Given the description of an element on the screen output the (x, y) to click on. 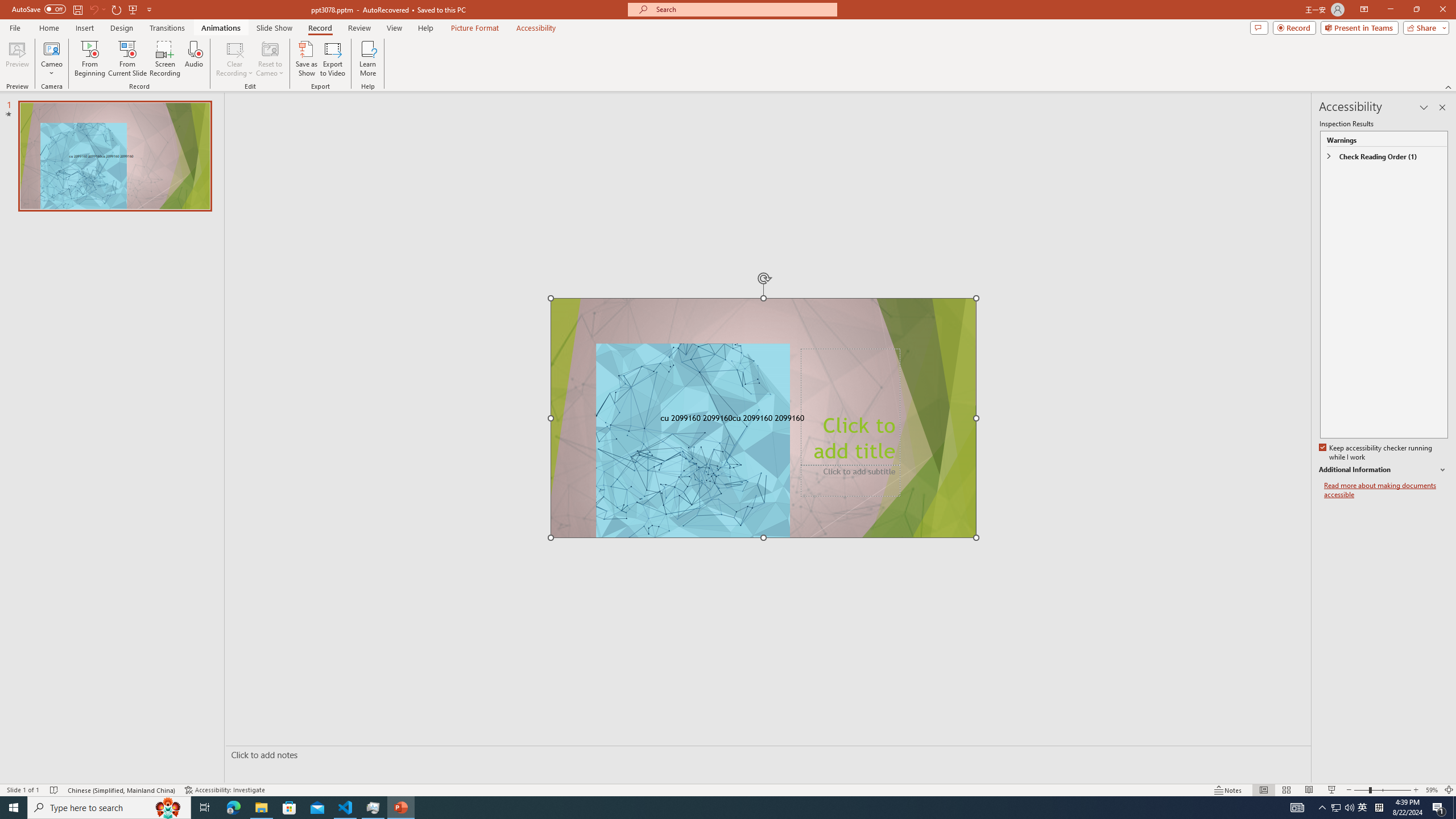
Picture Format (475, 28)
